Given the description of an element on the screen output the (x, y) to click on. 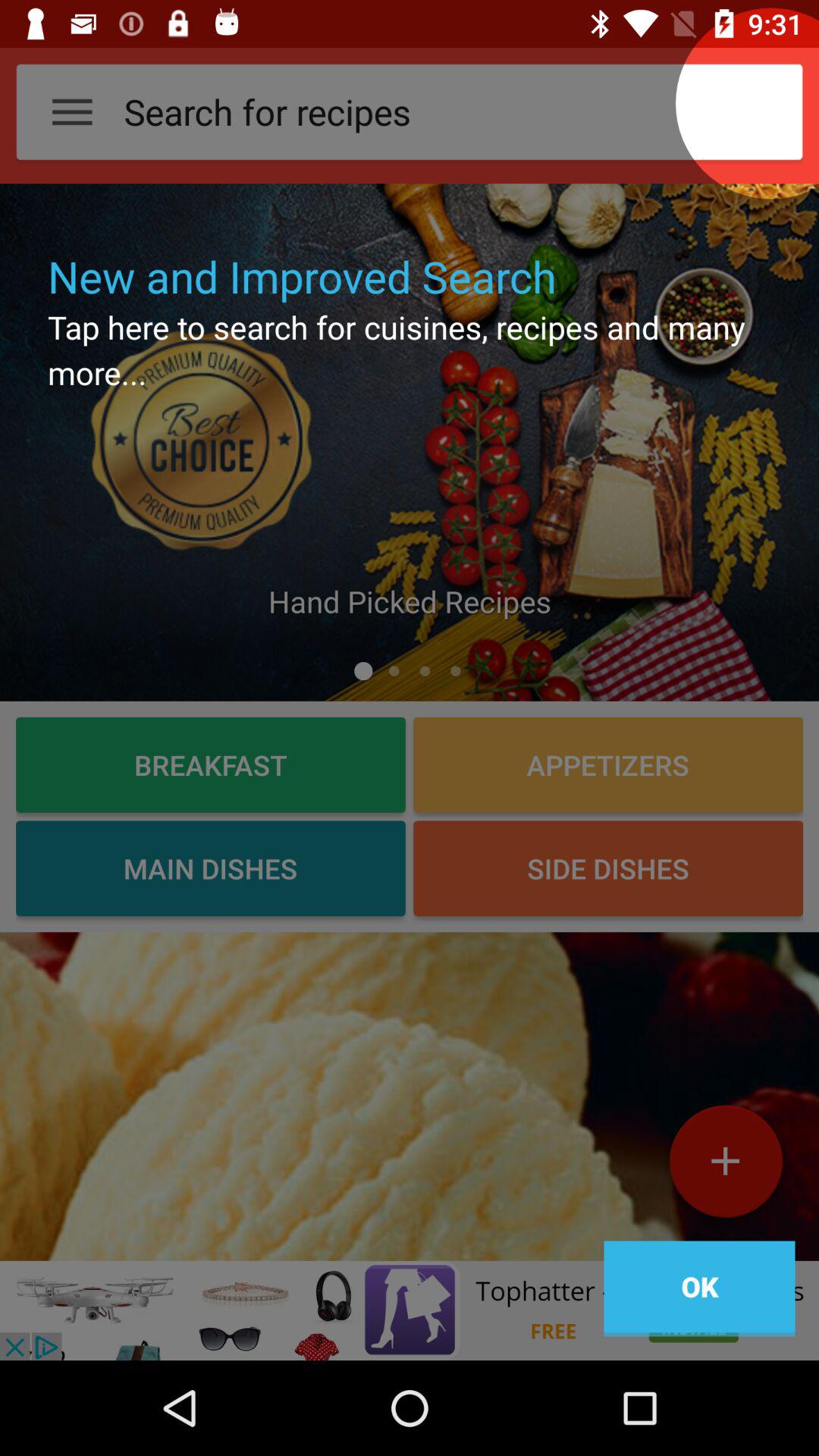
see more dishes (409, 1096)
